Given the description of an element on the screen output the (x, y) to click on. 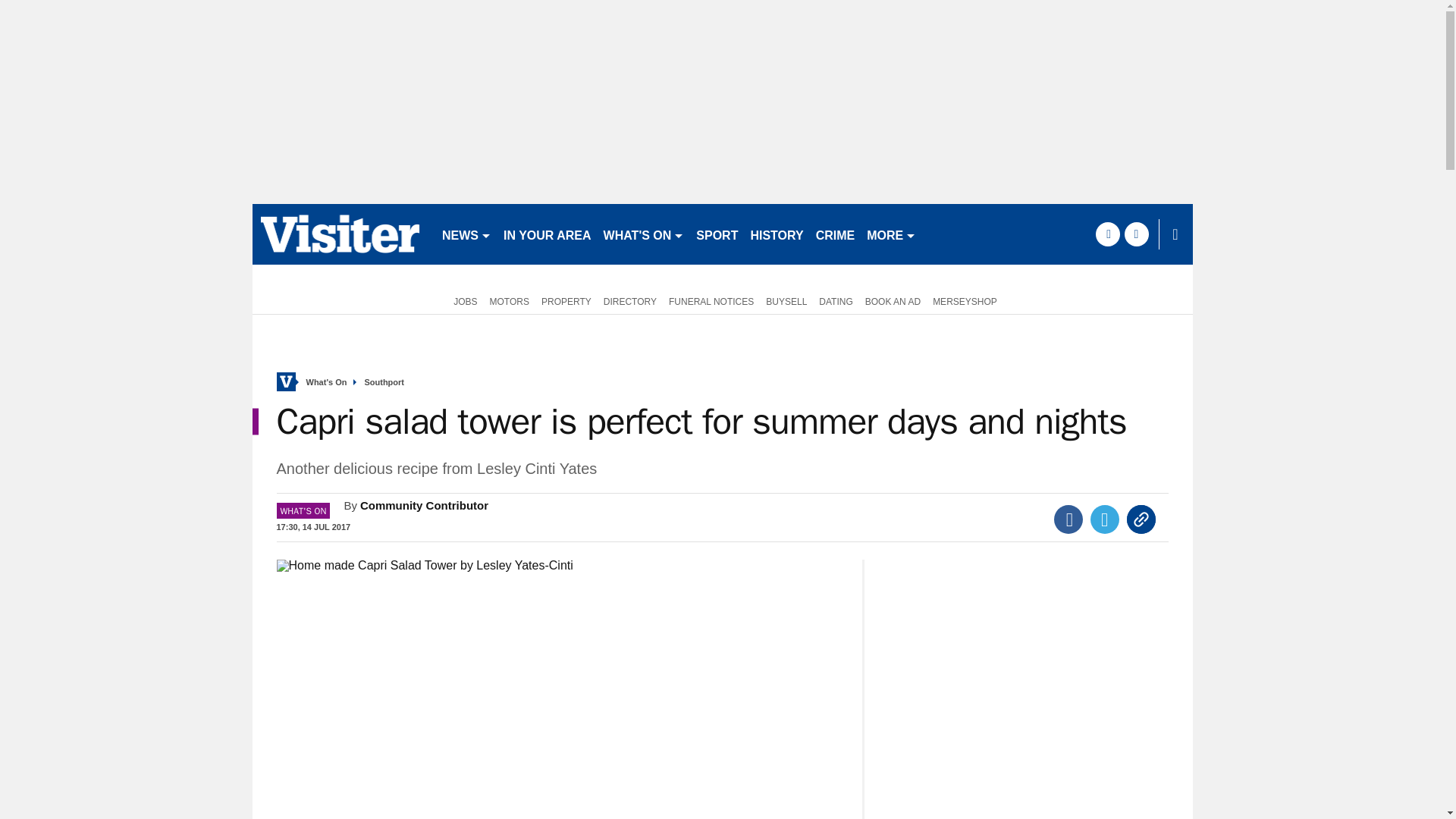
WHAT'S ON (643, 233)
Facebook (1068, 519)
BUYSELL (786, 300)
MERSEYSHOP (964, 300)
PROPERTY (565, 300)
FUNERAL NOTICES (711, 300)
HISTORY (776, 233)
MOTORS (509, 300)
DATING (835, 300)
twitter (1136, 233)
